Given the description of an element on the screen output the (x, y) to click on. 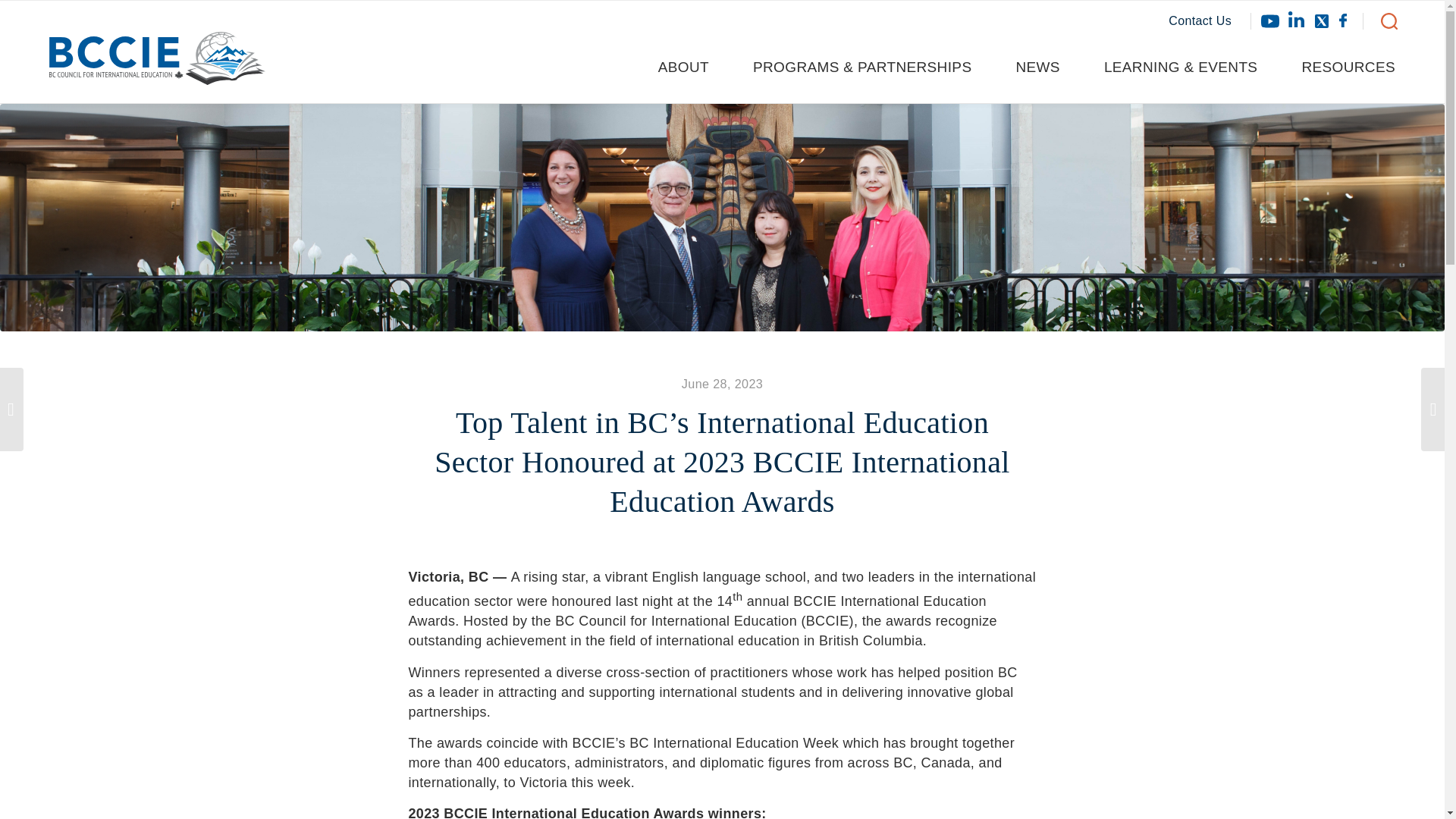
RESOURCES (1342, 67)
NEWS (1049, 67)
bccie-logo (156, 65)
bccie-logo (156, 57)
ABOUT (694, 67)
Contact Us (1209, 21)
